Given the description of an element on the screen output the (x, y) to click on. 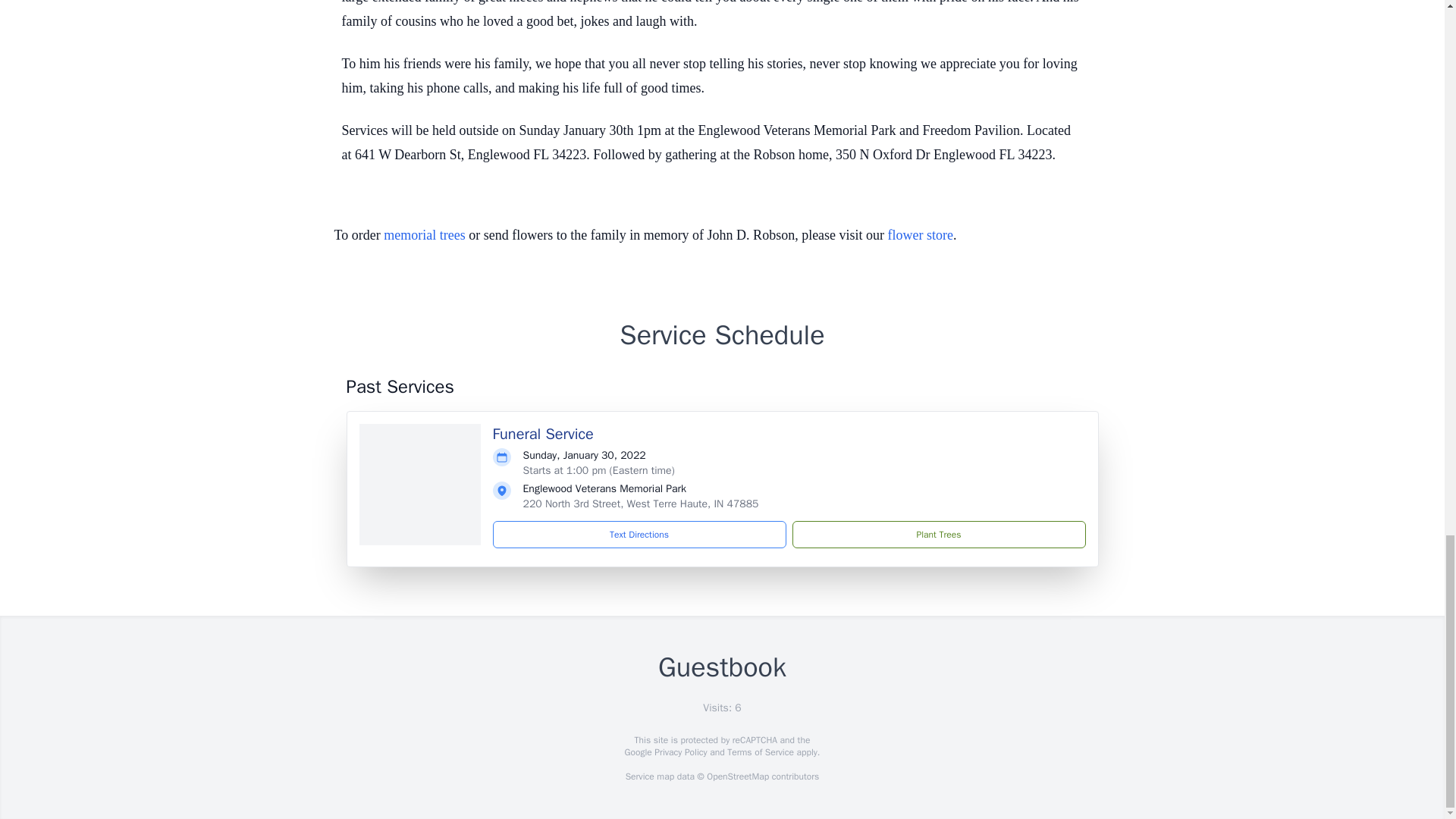
flower store (920, 234)
220 North 3rd Street, West Terre Haute, IN 47885 (640, 503)
Text Directions (639, 533)
OpenStreetMap (737, 776)
Terms of Service (759, 752)
Plant Trees (938, 533)
memorial trees (424, 234)
Privacy Policy (679, 752)
